Given the description of an element on the screen output the (x, y) to click on. 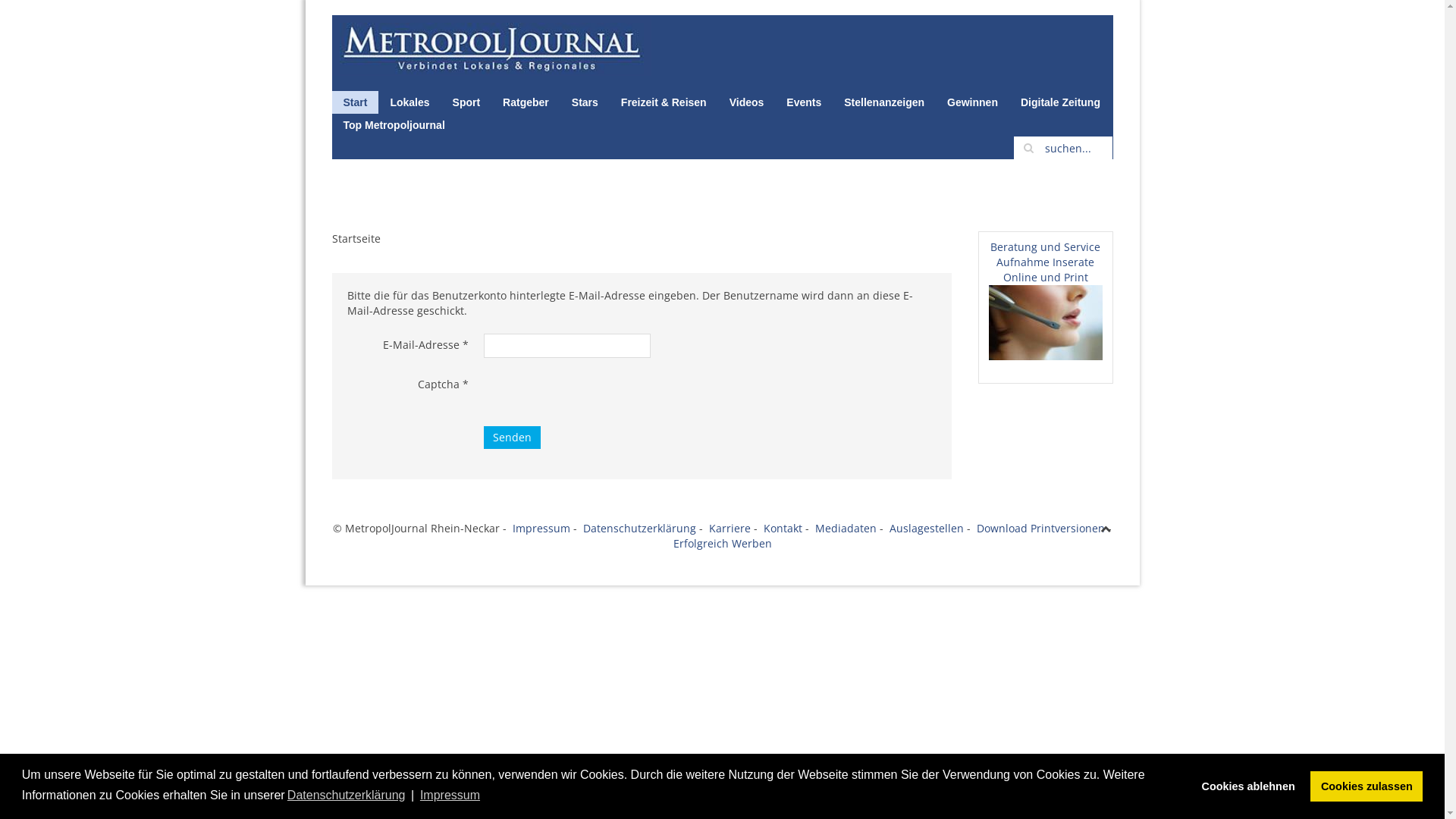
Cookies ablehnen Element type: text (1248, 786)
Lokales Element type: text (409, 102)
Start Element type: text (355, 102)
Digitale Zeitung Element type: text (1060, 102)
Cookies zulassen Element type: text (1366, 786)
Karriere Element type: text (729, 527)
Stellenanzeigen Element type: text (883, 102)
Download Printversionen Element type: text (1040, 527)
Impressum Element type: text (450, 795)
Impressum Element type: text (541, 527)
Kontakt  Element type: text (784, 527)
Erfolgreich Werben Element type: text (722, 543)
Freizeit & Reisen Element type: text (663, 102)
Senden Element type: text (511, 437)
Top Metropoljournal Element type: text (394, 124)
Sport Element type: text (466, 102)
Ratgeber Element type: text (525, 102)
Beratung und Service
Aufnahme Inserate
Online und Print Element type: text (1045, 261)
Stars Element type: text (584, 102)
Events Element type: text (803, 102)
Mediadaten Element type: text (845, 527)
Auslagestellen Element type: text (926, 527)
Videos Element type: text (746, 102)
Gewinnen Element type: text (972, 102)
